Given the description of an element on the screen output the (x, y) to click on. 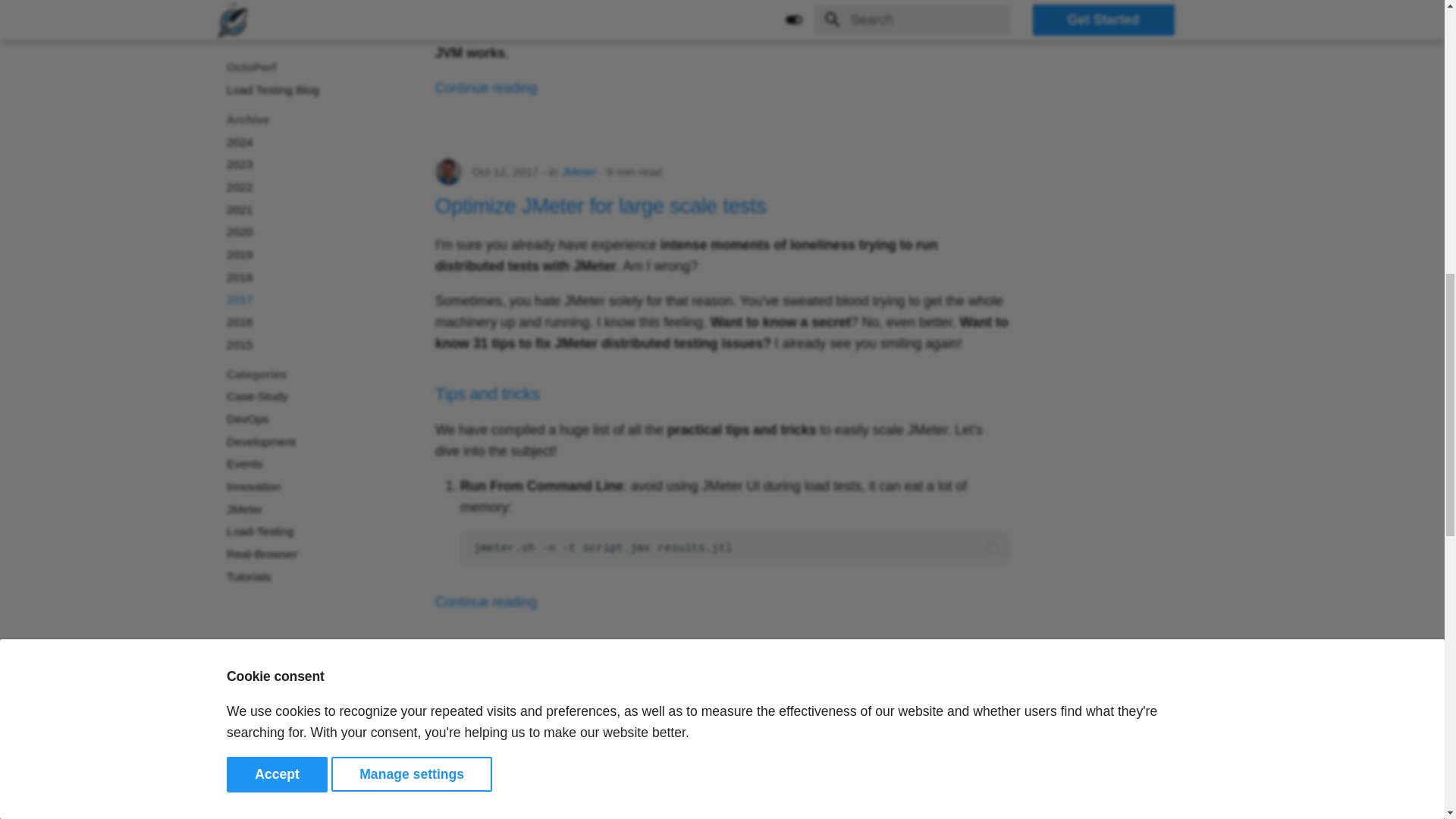
Continue reading (486, 601)
Continue reading (486, 87)
Optimize JMeter for large scale tests (600, 205)
Innovation (581, 685)
JMeter (578, 171)
OctoPerf 7.2 is released (544, 720)
Tips and tricks (487, 393)
Copy to clipboard (992, 547)
